Given the description of an element on the screen output the (x, y) to click on. 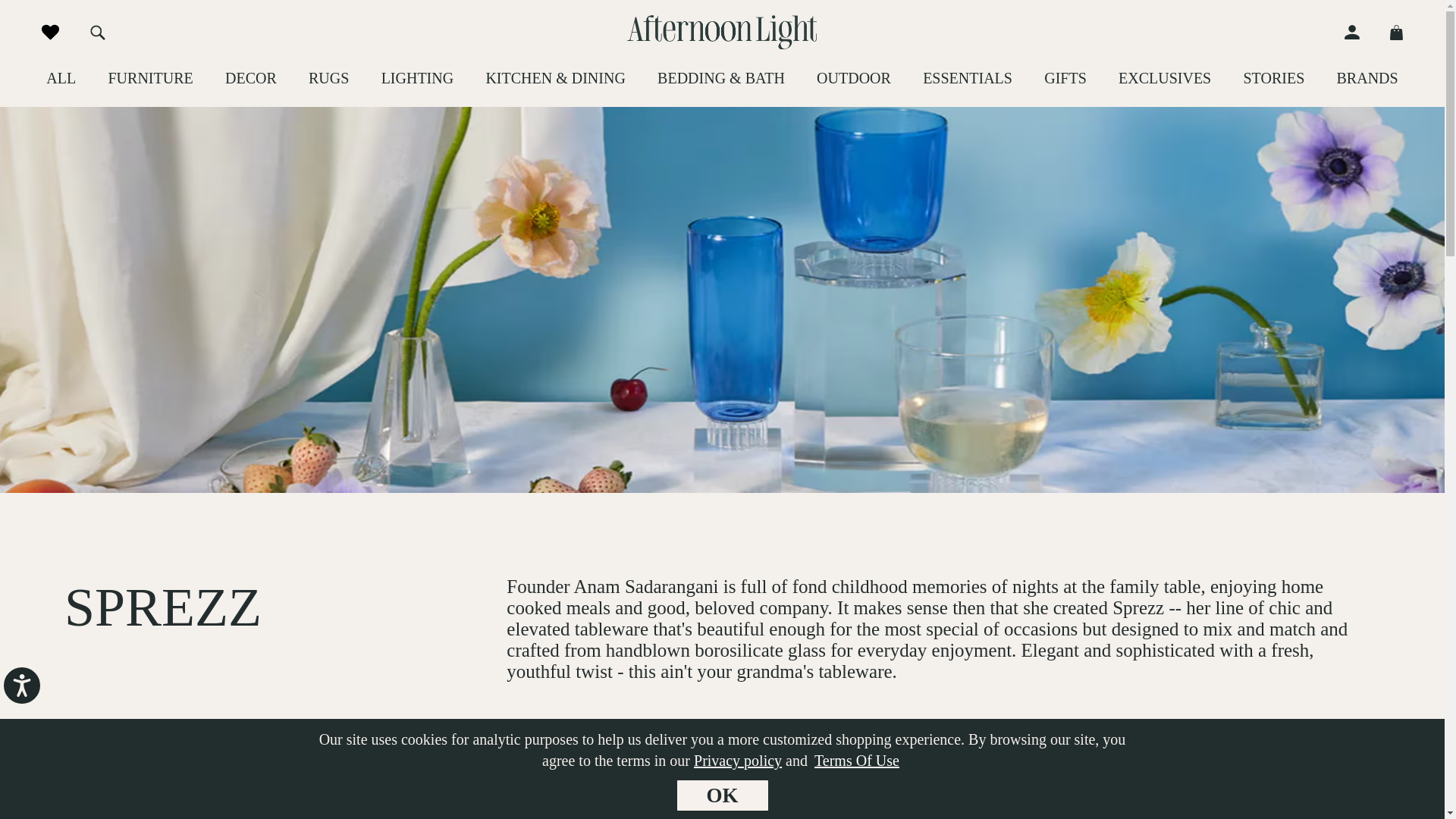
FURNITURE (149, 77)
Log in (1358, 32)
Terms Of Use (856, 760)
Cart (1388, 32)
OK (722, 795)
Privacy policy (737, 760)
ALL (60, 77)
Accessibility (34, 697)
